Given the description of an element on the screen output the (x, y) to click on. 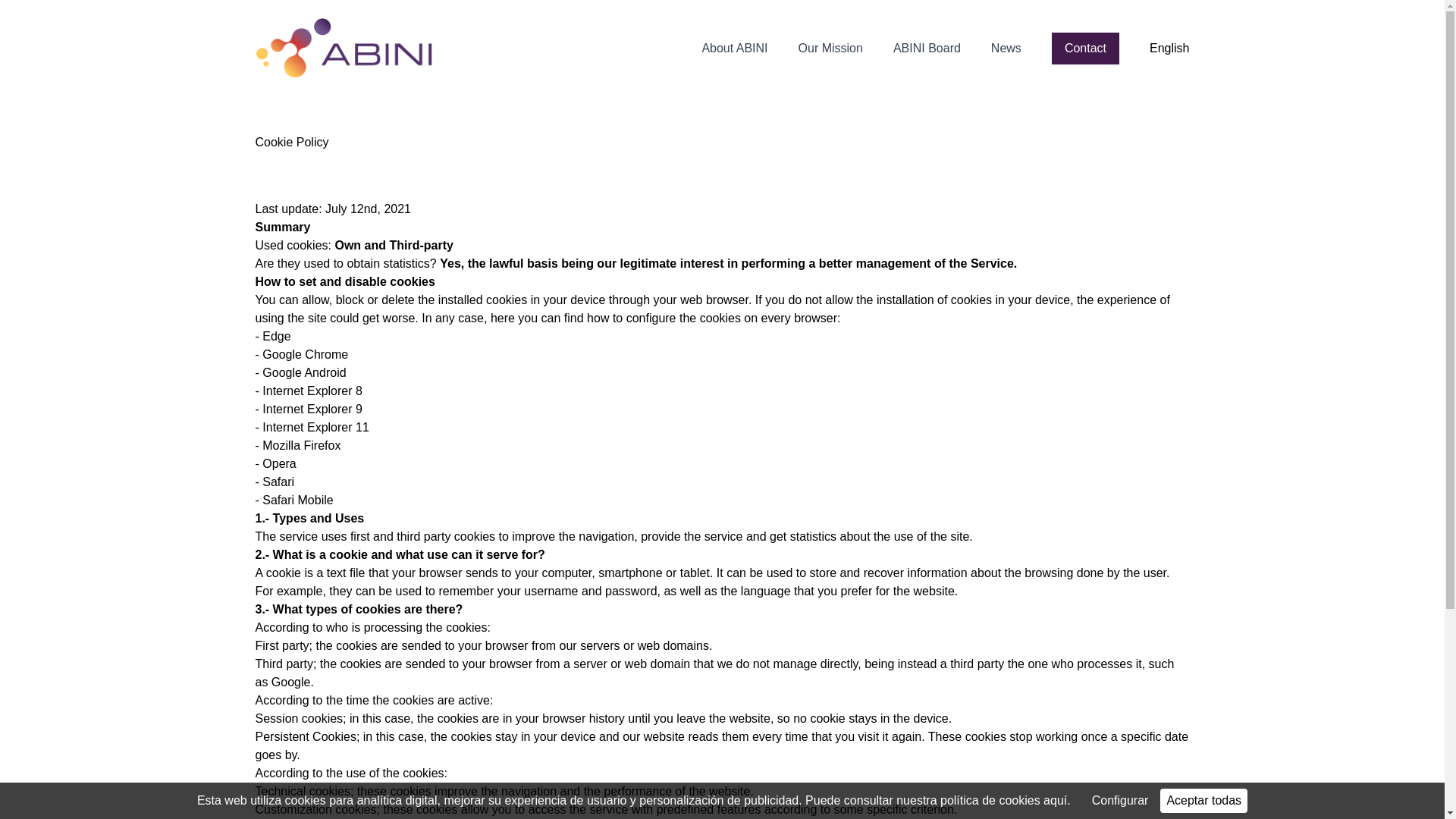
News (1006, 48)
Our Mission (830, 48)
ABINI Board (926, 48)
Safari (276, 481)
Abini (343, 48)
Aceptar todas (1203, 800)
Internet Explorer 11 (315, 427)
Google Chrome (304, 354)
Google Android (304, 372)
Safari Mobile (296, 499)
